Given the description of an element on the screen output the (x, y) to click on. 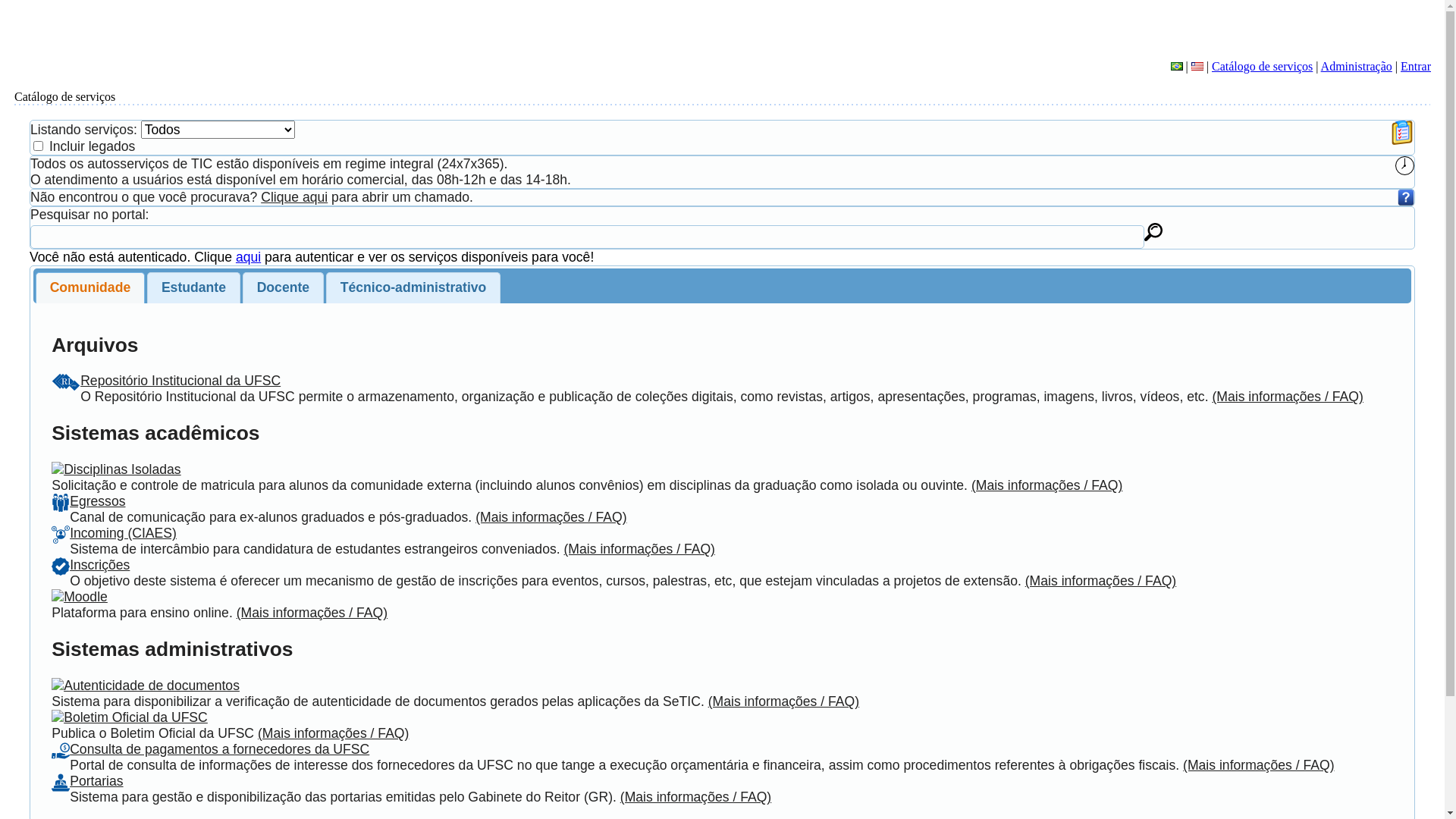
Autenticidade de documentos Element type: text (151, 685)
Estudante Element type: text (192, 288)
Disciplinas Isoladas Element type: text (122, 468)
Moodle Element type: text (85, 596)
Portarias Element type: text (95, 780)
Egressos Element type: text (97, 500)
See catalog in English Element type: hover (1197, 66)
Consulta de pagamentos a fornecedores da UFSC Element type: text (219, 748)
Clique aqui Element type: text (293, 196)
Boletim Oficial da UFSC Element type: text (135, 716)
aqui Element type: text (247, 256)
Entrar Element type: text (1415, 65)
Comunidade Element type: text (90, 288)
Docente Element type: text (283, 288)
Incoming (CIAES) Element type: text (122, 532)
